Given the description of an element on the screen output the (x, y) to click on. 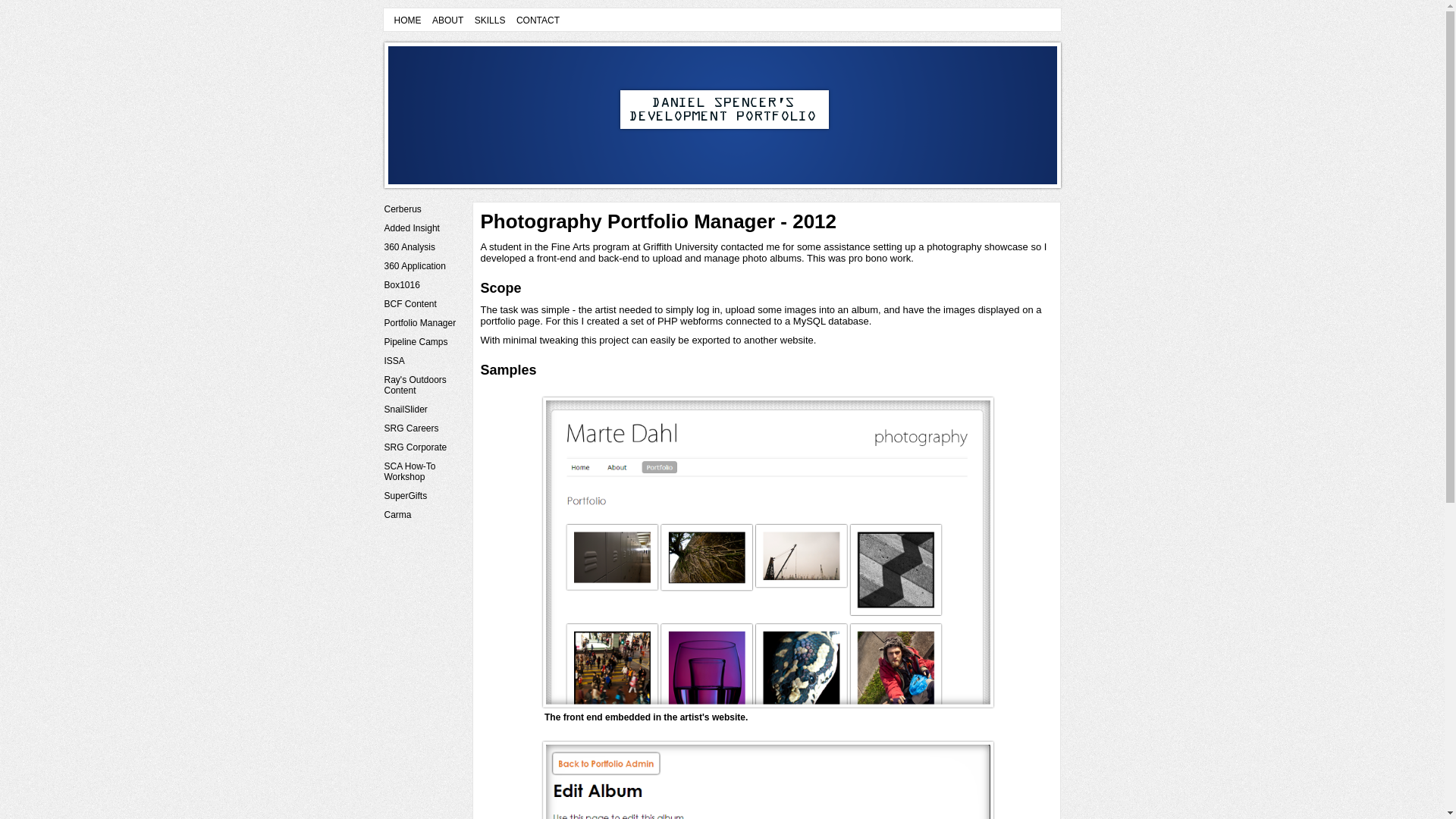
ISSA (425, 360)
Added Insight (425, 227)
Ray's Outdoors Content (425, 385)
SRG Corporate (425, 447)
Pipeline Camps (425, 341)
ABOUT (447, 20)
Carma (425, 514)
Cerberus (425, 209)
SKILLS (489, 20)
SuperGifts (425, 495)
